Given the description of an element on the screen output the (x, y) to click on. 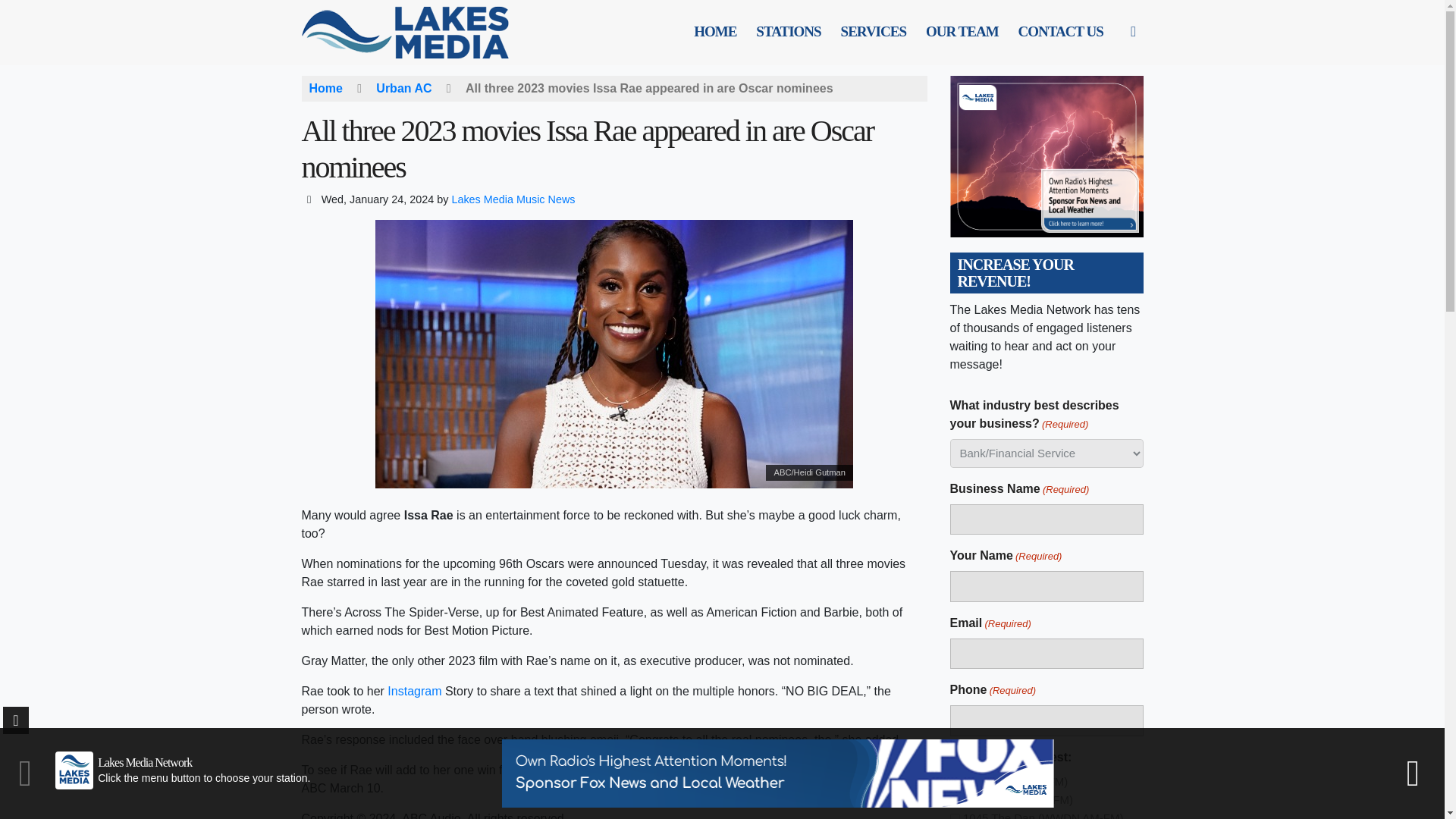
HOME (714, 31)
Posts by Lakes Media Music News (513, 199)
STATIONS (787, 31)
Lakes Media Network (416, 31)
